Given the description of an element on the screen output the (x, y) to click on. 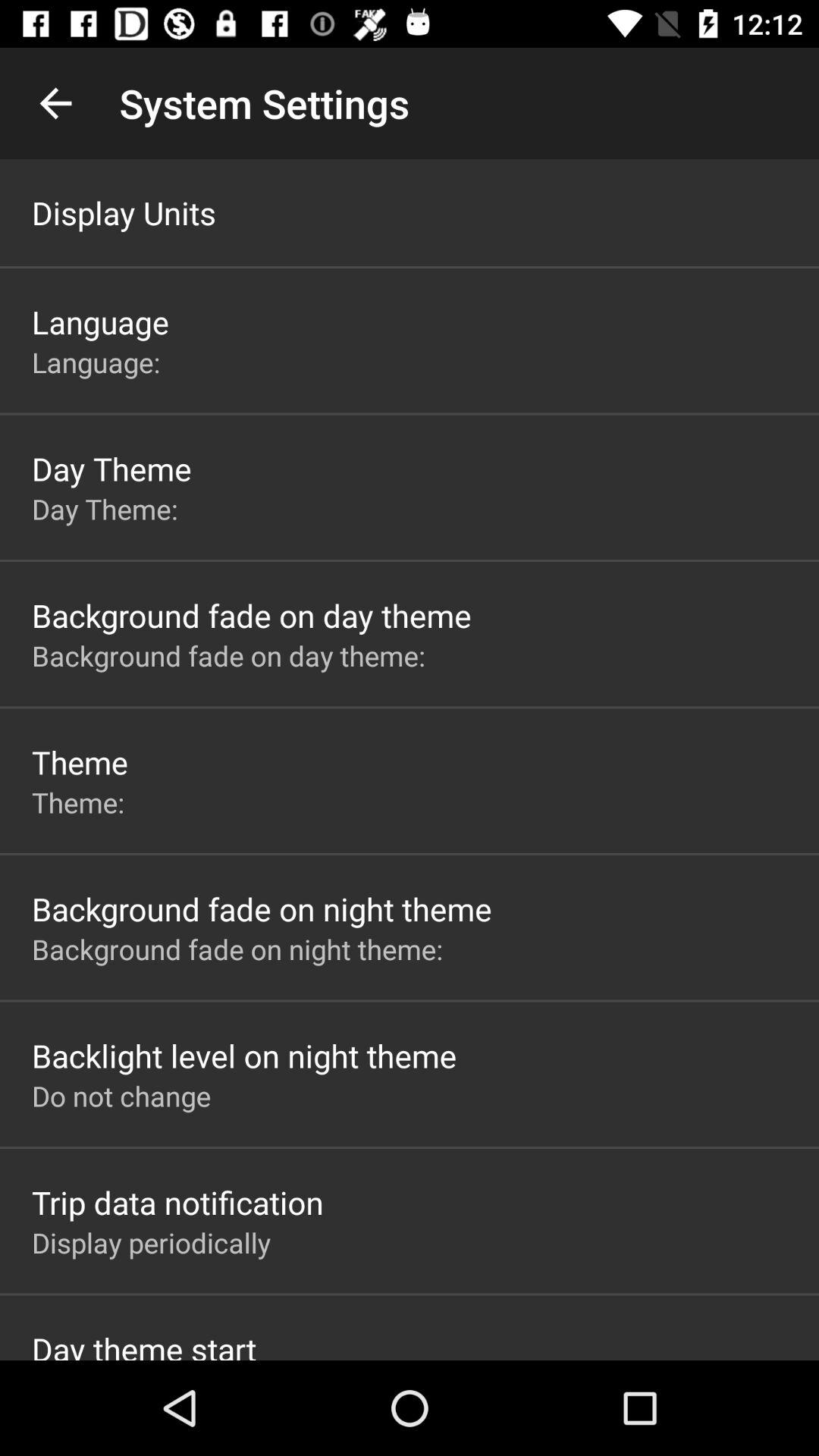
jump until the trip data notification app (177, 1201)
